Given the description of an element on the screen output the (x, y) to click on. 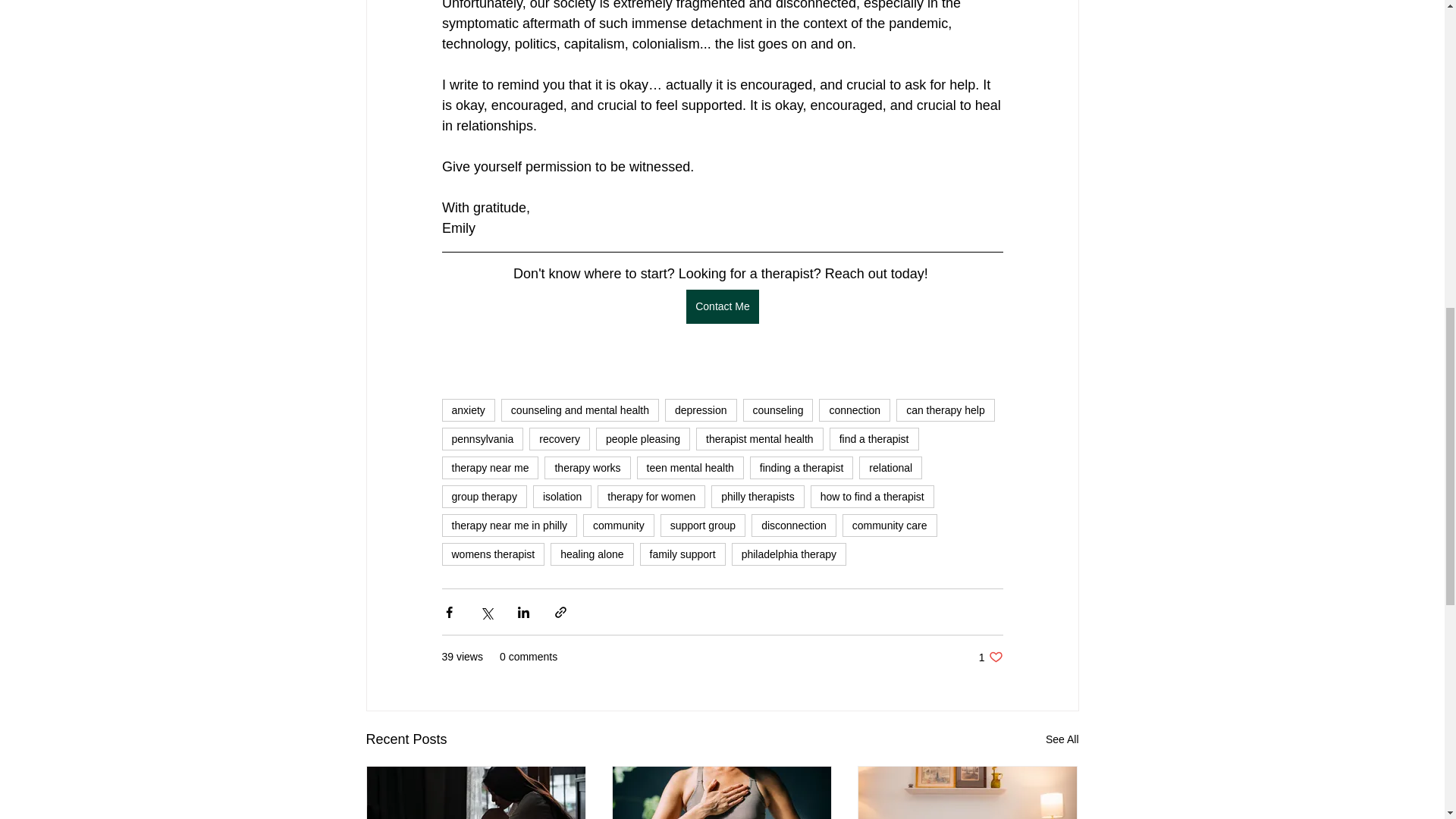
counseling (777, 409)
counseling and mental health (579, 409)
anxiety (468, 409)
Contact Me (721, 306)
depression (700, 409)
